Given the description of an element on the screen output the (x, y) to click on. 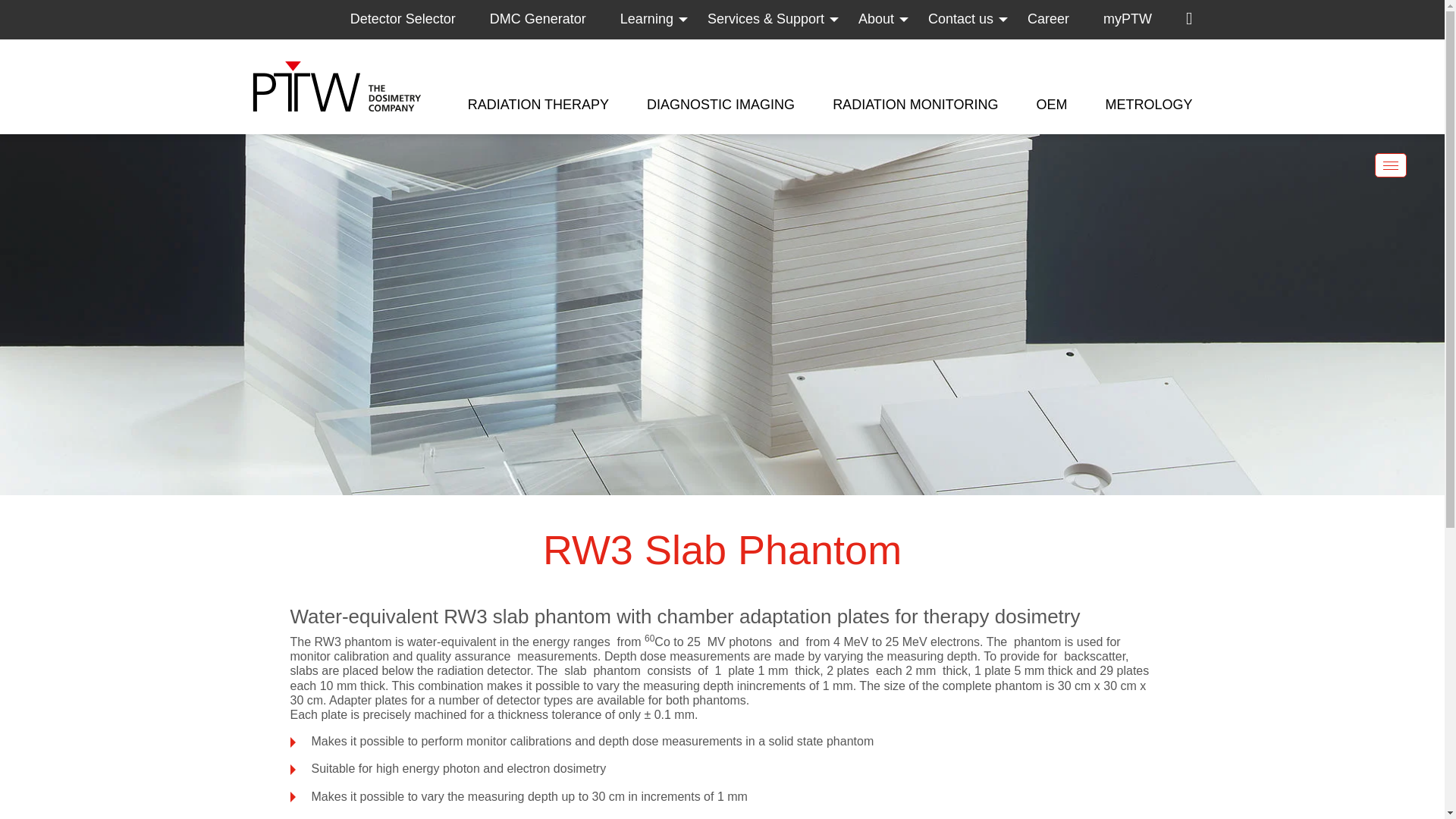
About (893, 19)
RADIATION THERAPY (537, 104)
Home (335, 86)
DMC Generator (554, 19)
Contact us (977, 19)
Learning (663, 19)
Detector Selector (419, 19)
Career (1065, 19)
myPTW (1144, 19)
